Given the description of an element on the screen output the (x, y) to click on. 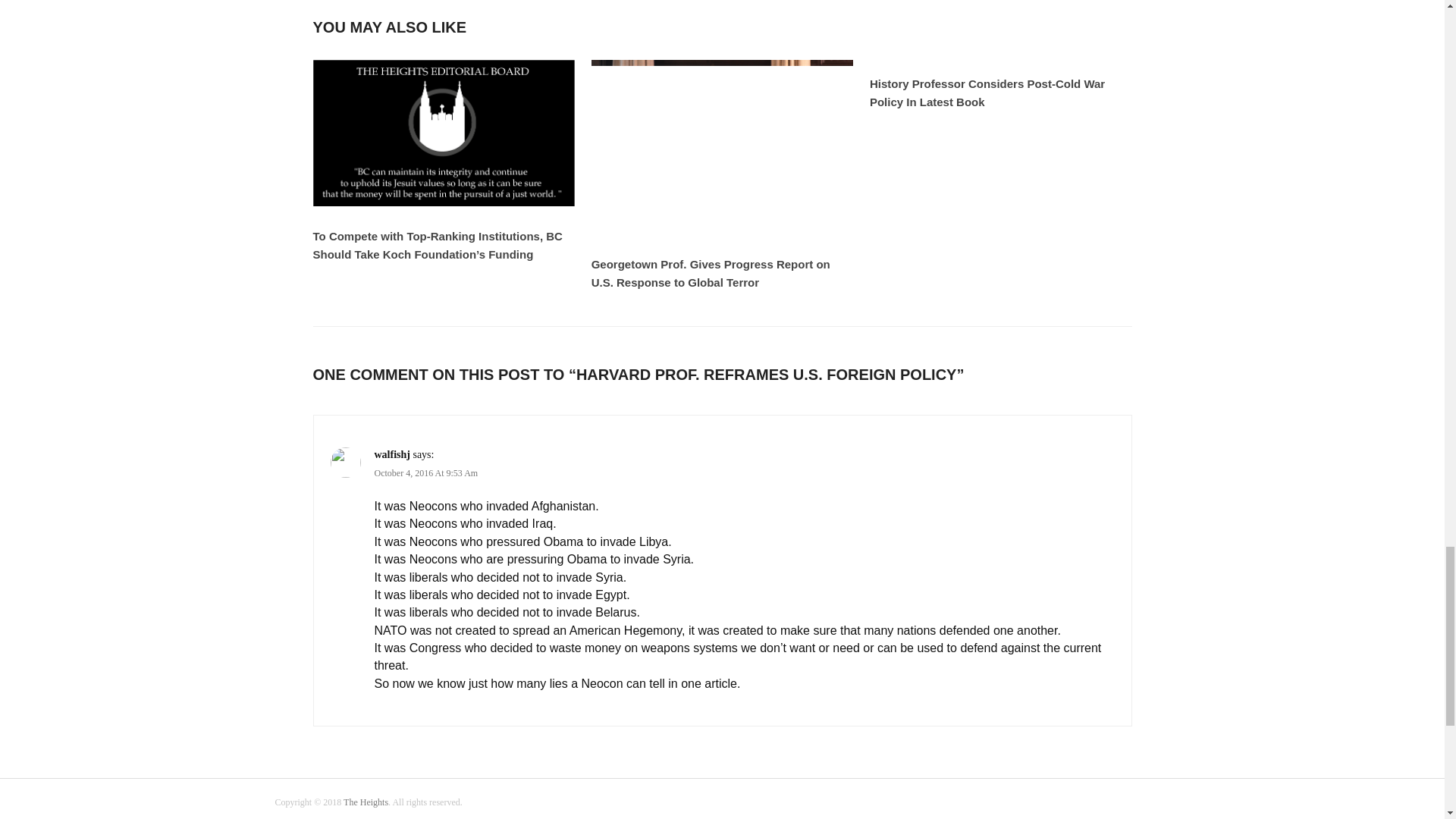
The Heights (365, 801)
